Given the description of an element on the screen output the (x, y) to click on. 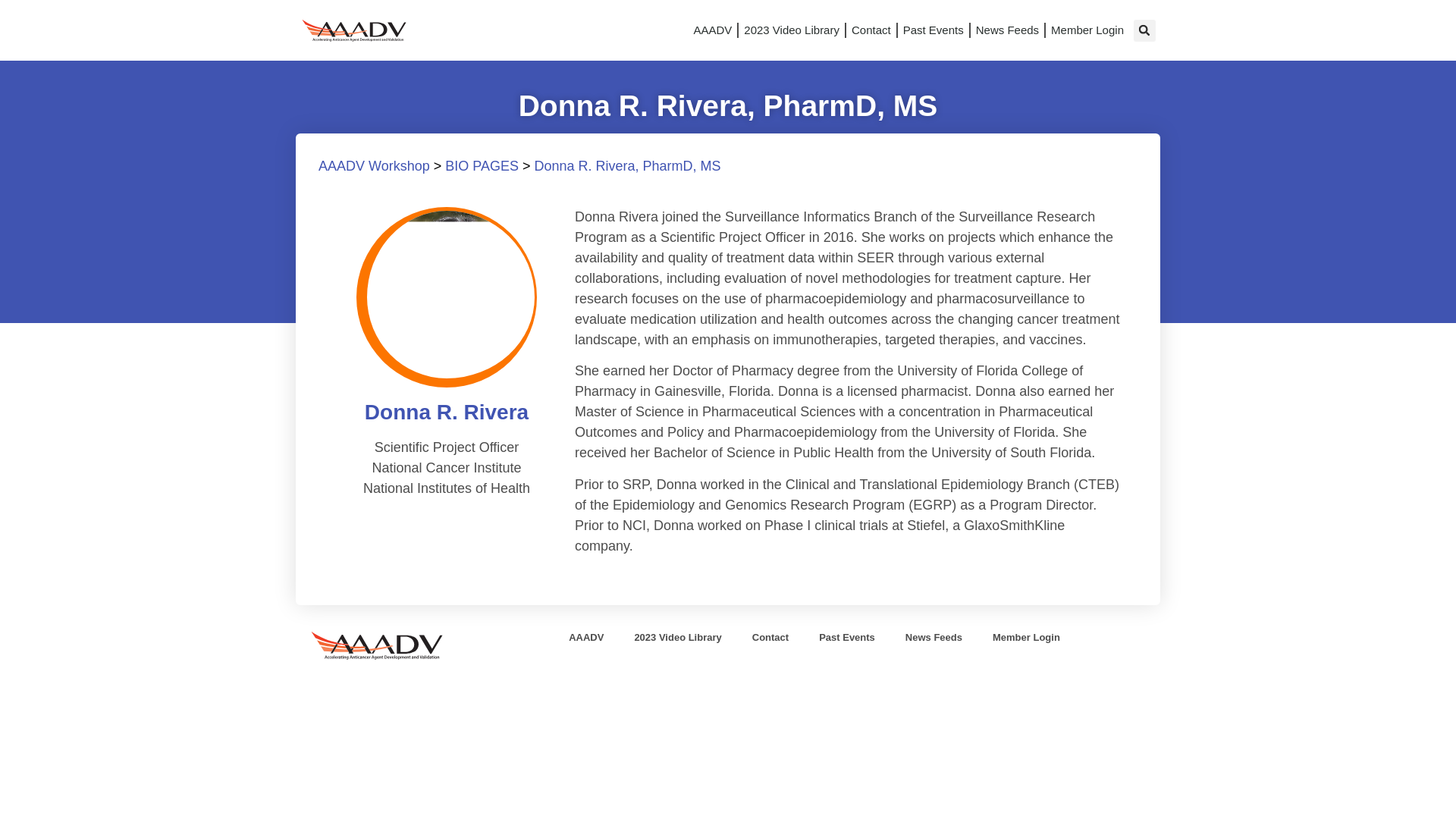
Contact (870, 30)
Member Login (1087, 30)
2023 Video Library (791, 30)
AAADV (711, 30)
Go to BIO PAGES. (481, 165)
Go to Donna R. Rivera, PharmD, MS. (627, 165)
News Feeds (1007, 30)
Past Events (933, 30)
Go to AAADV Workshop. (373, 165)
